Given the description of an element on the screen output the (x, y) to click on. 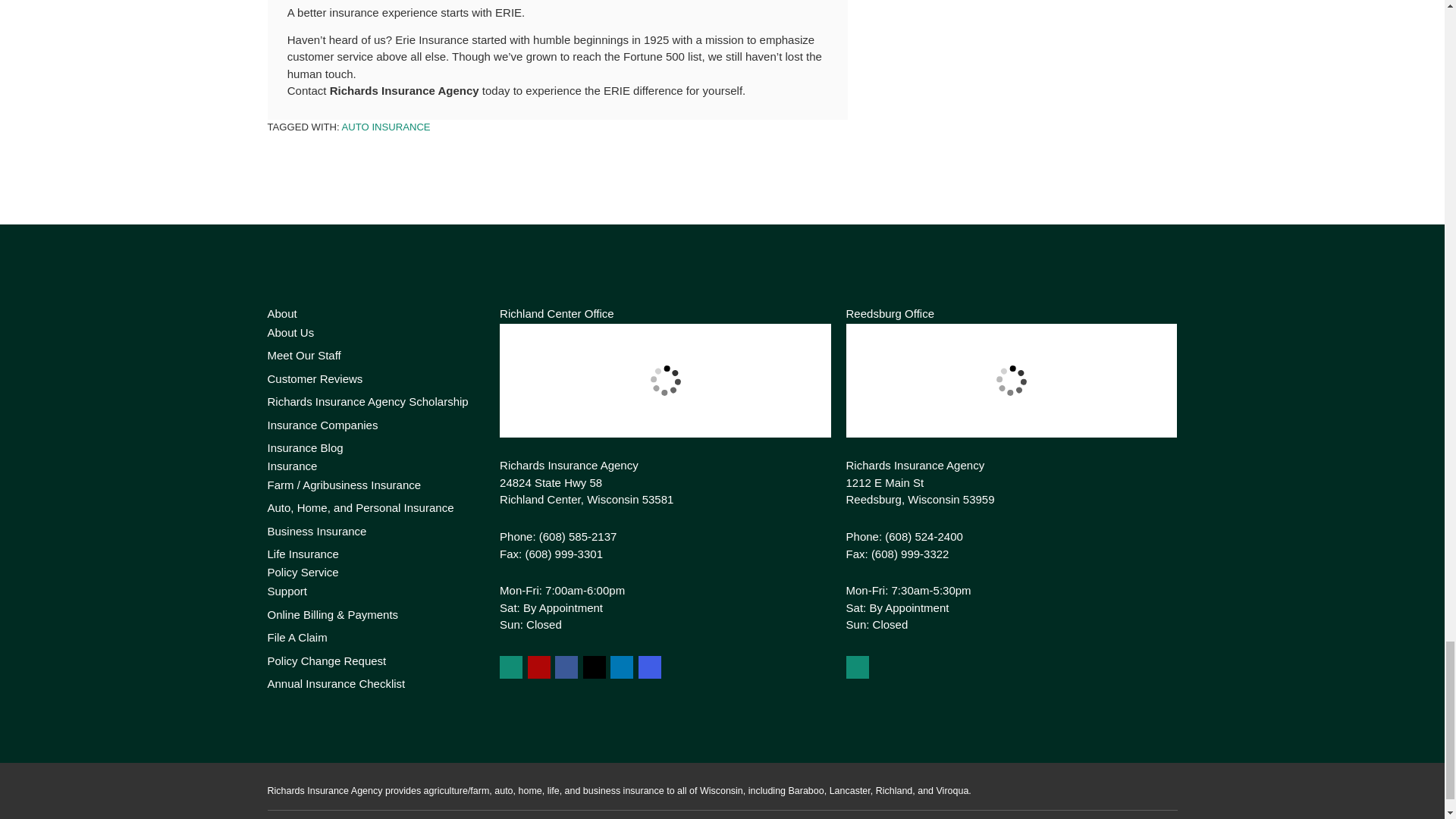
Instagram (650, 667)
Auto Insurance (386, 126)
Facebook (566, 667)
Google Maps (857, 667)
Yelp (538, 667)
X (594, 667)
Google Maps (510, 667)
LinkedIn (621, 667)
